Given the description of an element on the screen output the (x, y) to click on. 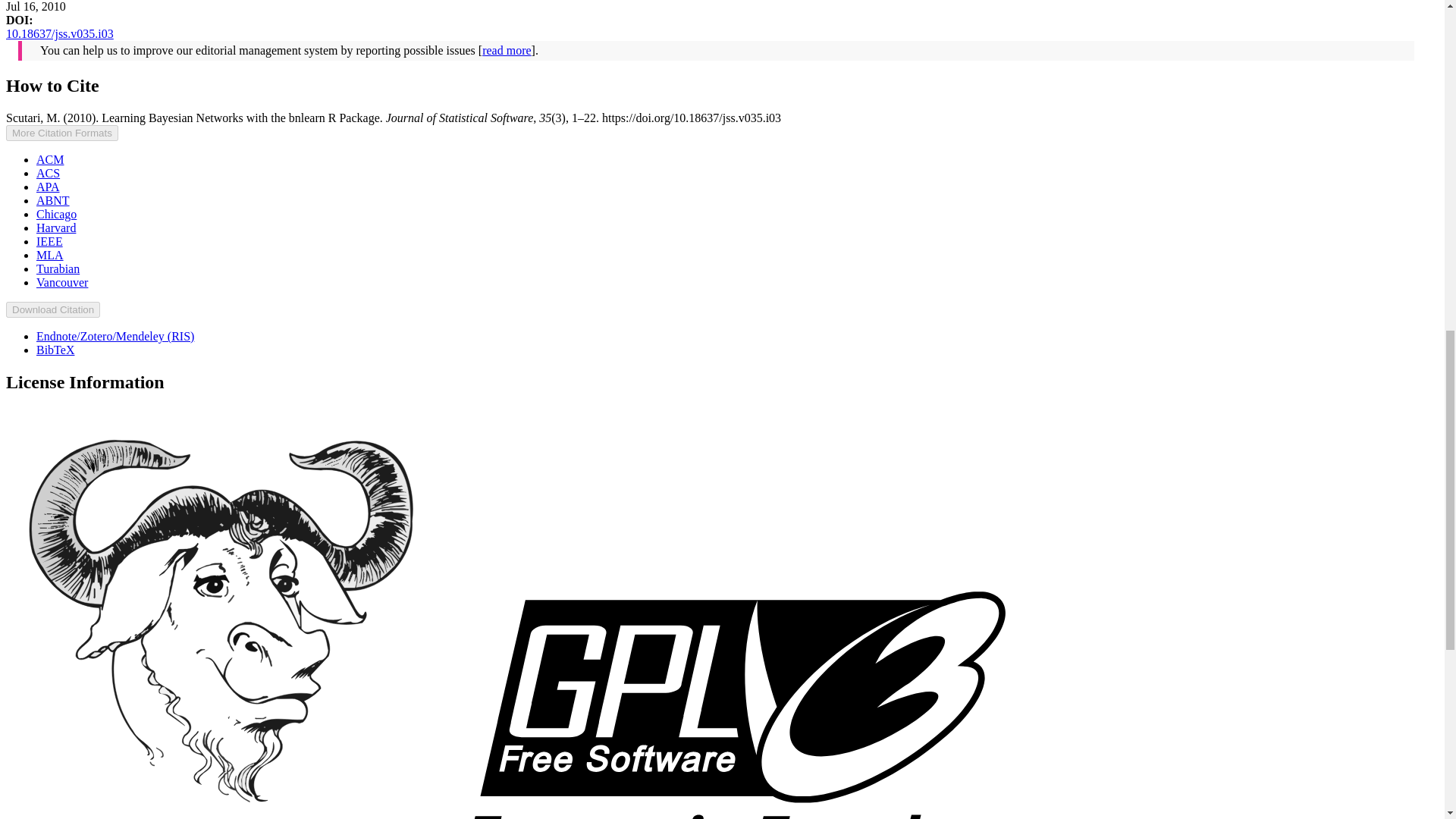
read more (506, 50)
ACS (47, 173)
More Citation Formats (61, 132)
ABNT (52, 200)
Chicago (56, 214)
ACM (50, 159)
Harvard (55, 227)
APA (47, 186)
IEEE (49, 241)
